Given the description of an element on the screen output the (x, y) to click on. 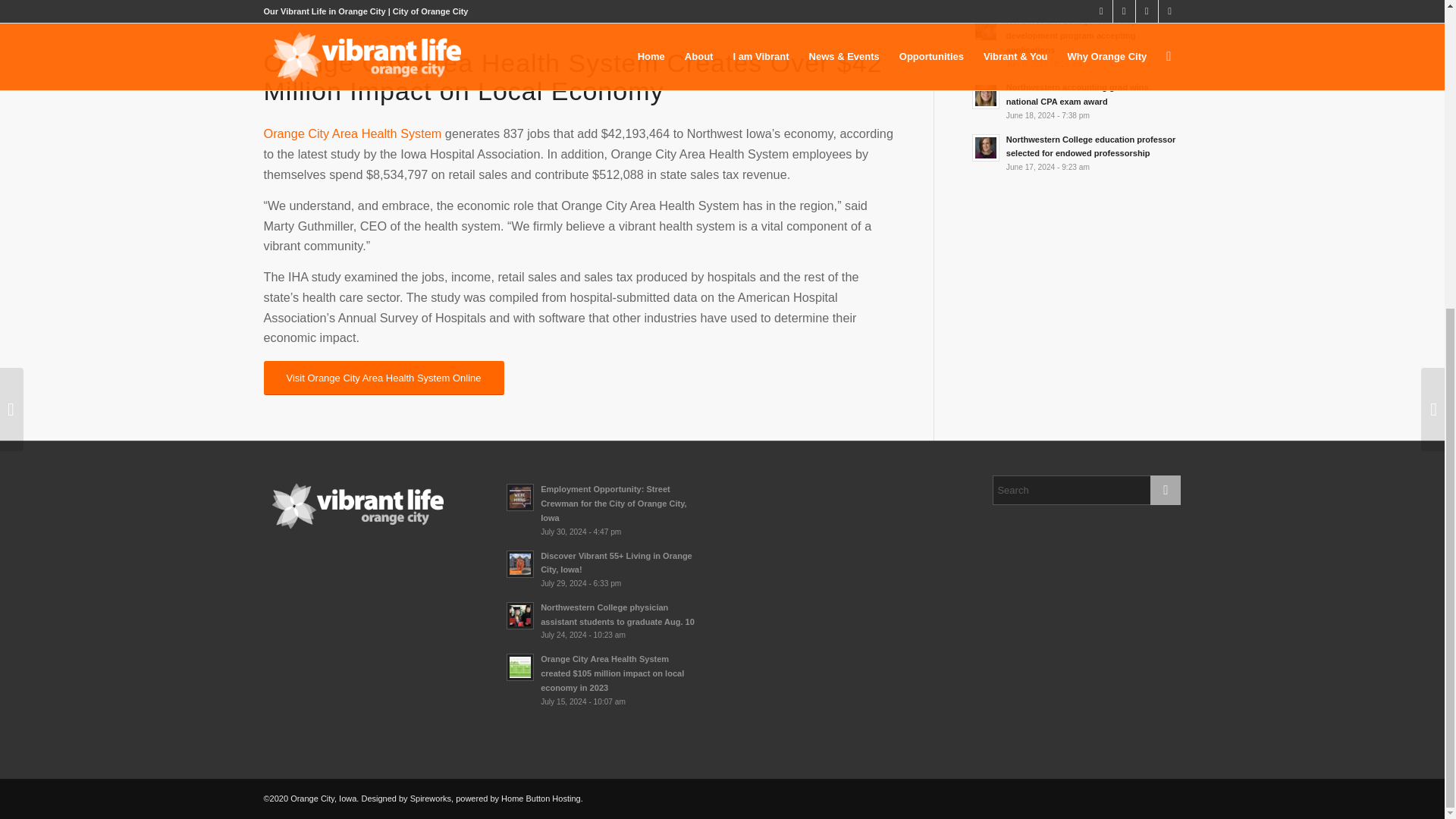
Orange City Area Health System (352, 133)
Visit Orange City Area Health System Online (383, 377)
